Given the description of an element on the screen output the (x, y) to click on. 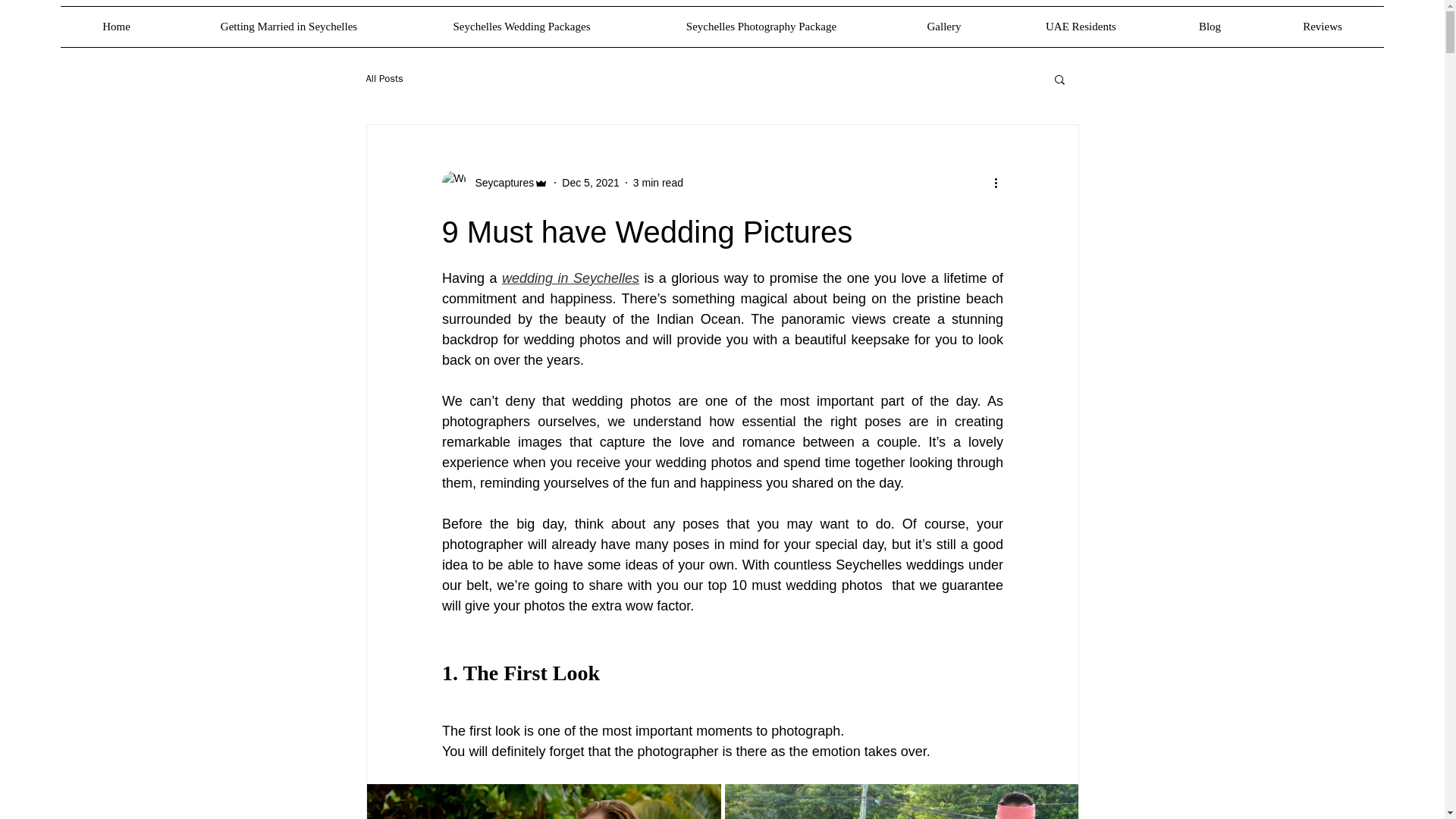
Seycaptures (494, 182)
Blog (1209, 26)
wedding in Seychelles (569, 278)
Gallery (944, 26)
Getting Married in Seychelles (288, 26)
Dec 5, 2021 (591, 182)
Seycaptures (499, 182)
Reviews (1322, 26)
UAE Residents (1080, 26)
Seychelles Photography Package (761, 26)
Home (116, 26)
Seychelles Wedding Packages (521, 26)
3 min read (657, 182)
All Posts (384, 78)
